Given the description of an element on the screen output the (x, y) to click on. 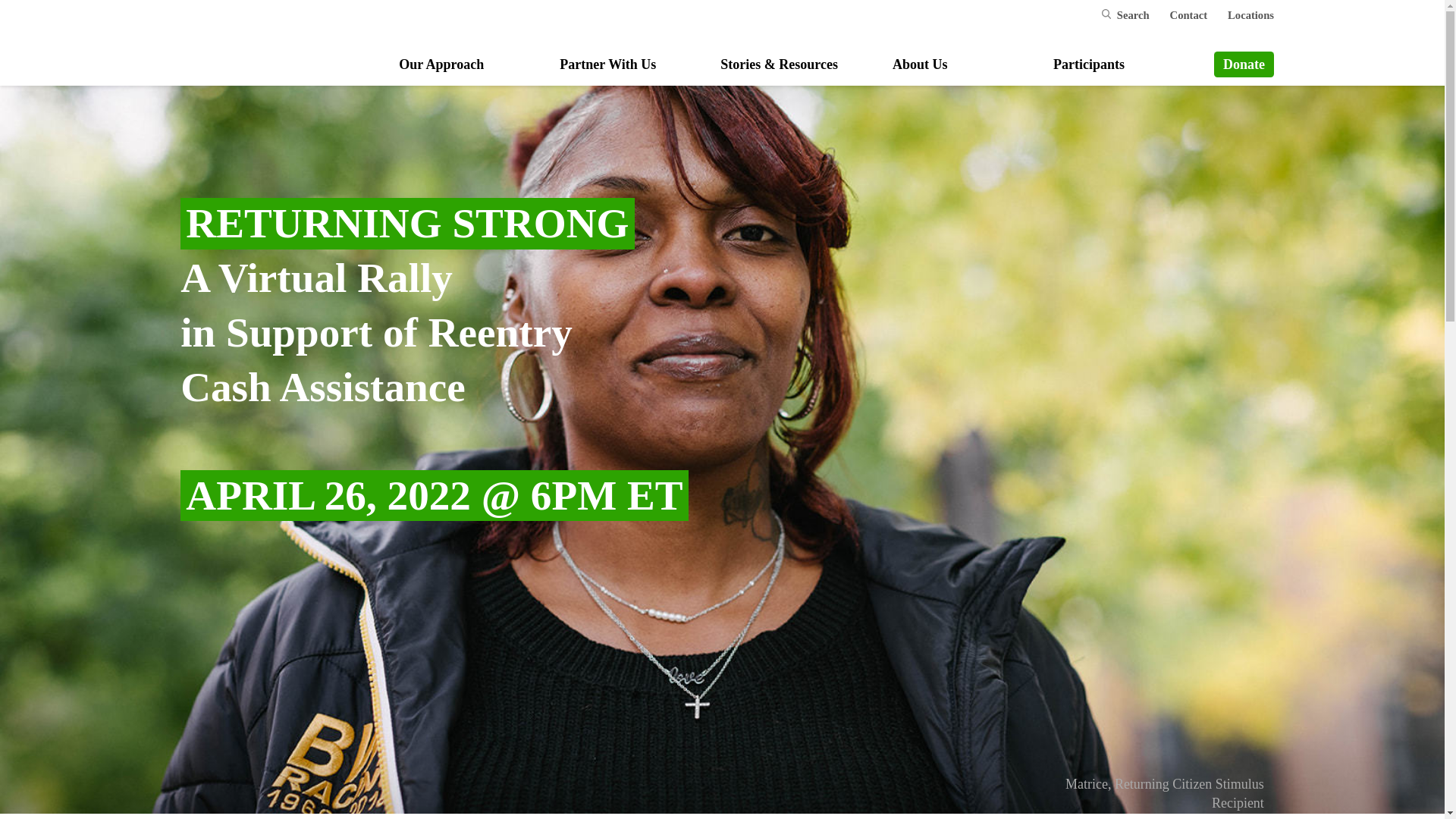
Donate (1244, 63)
Center for Employment Opportunities (251, 37)
Participants (1088, 65)
Locations (1250, 15)
About Us (919, 65)
Search (1129, 15)
Contact (1189, 15)
Partner With Us (607, 65)
Our Approach (440, 65)
